Given the description of an element on the screen output the (x, y) to click on. 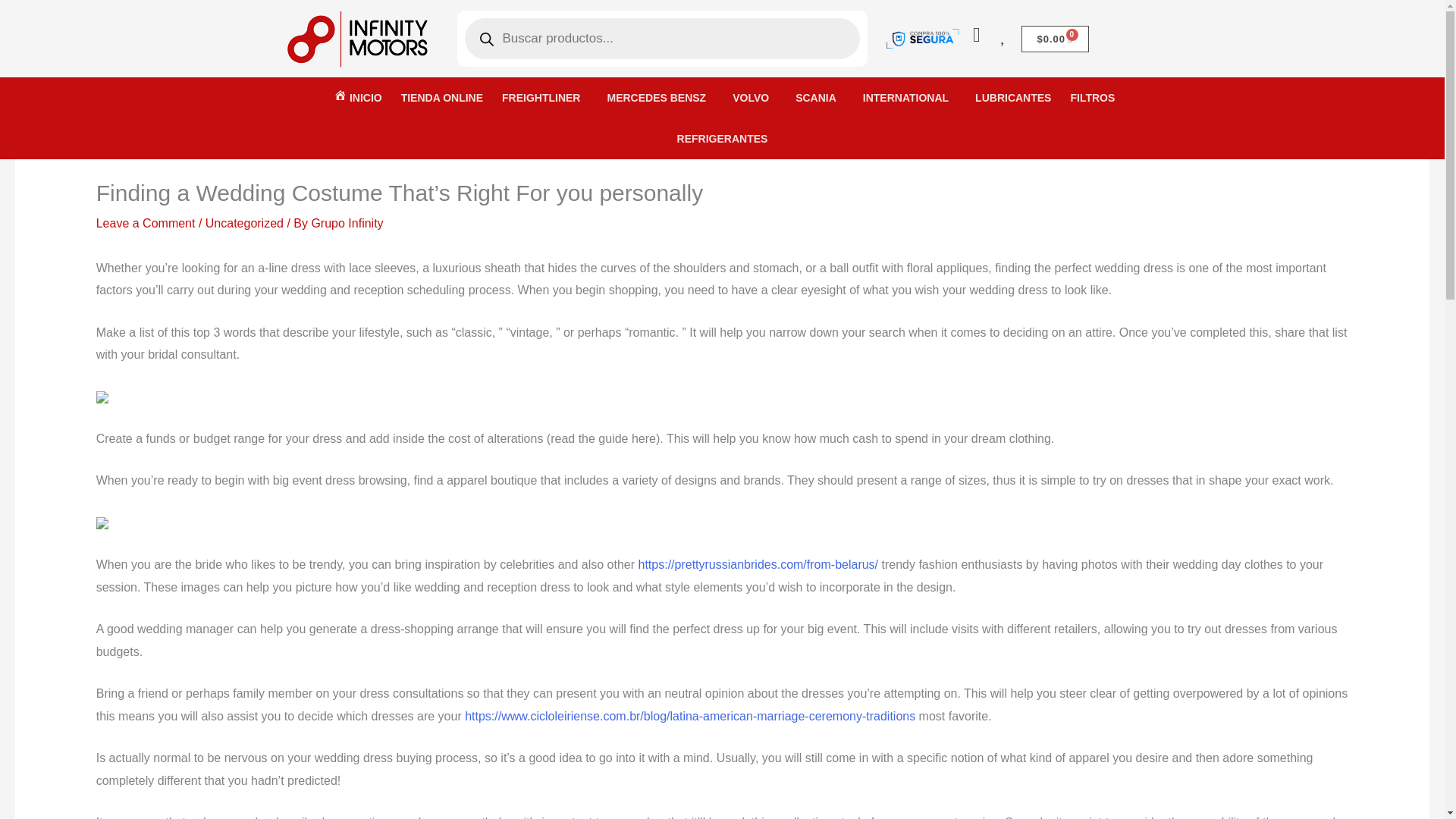
View all posts by Grupo Infinity (346, 223)
